Given the description of an element on the screen output the (x, y) to click on. 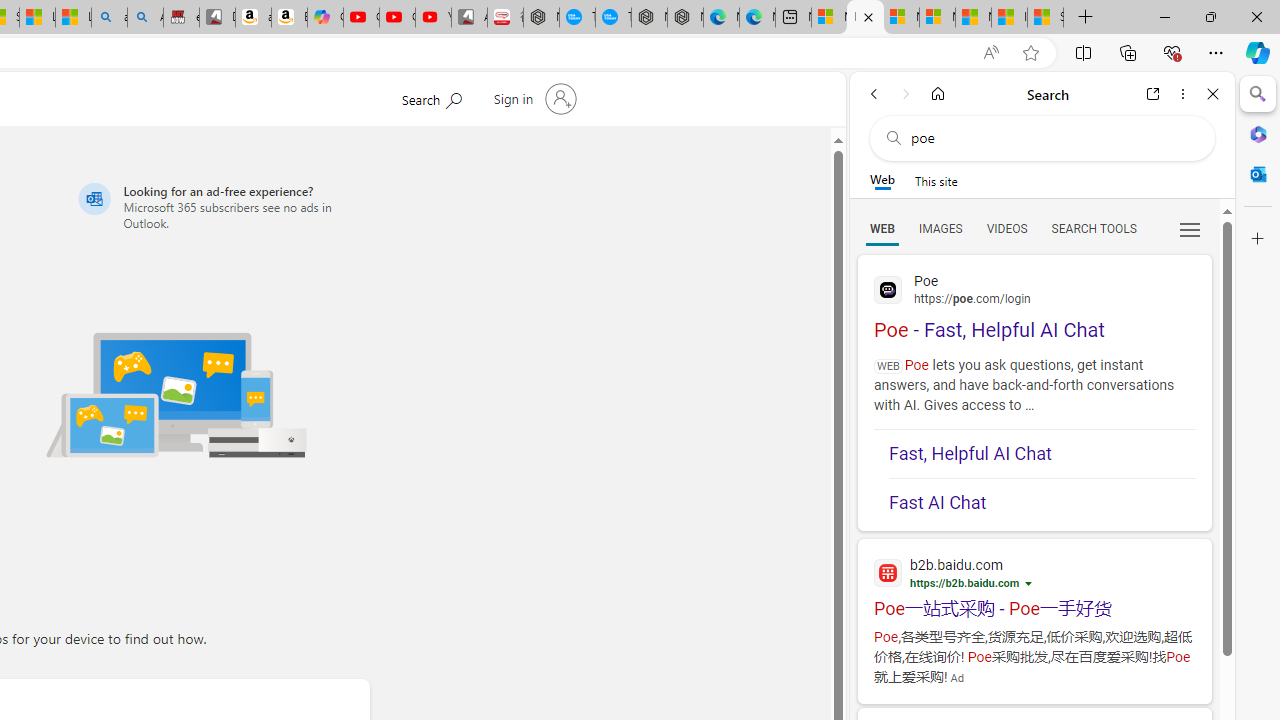
Search the web (1051, 137)
Forward (906, 93)
Fast, Helpful AI Chat (1042, 453)
Nordace - Nordace has arrived Hong Kong (685, 17)
Web scope (882, 180)
Copilot (325, 17)
Open link in new tab (1153, 93)
